Given the description of an element on the screen output the (x, y) to click on. 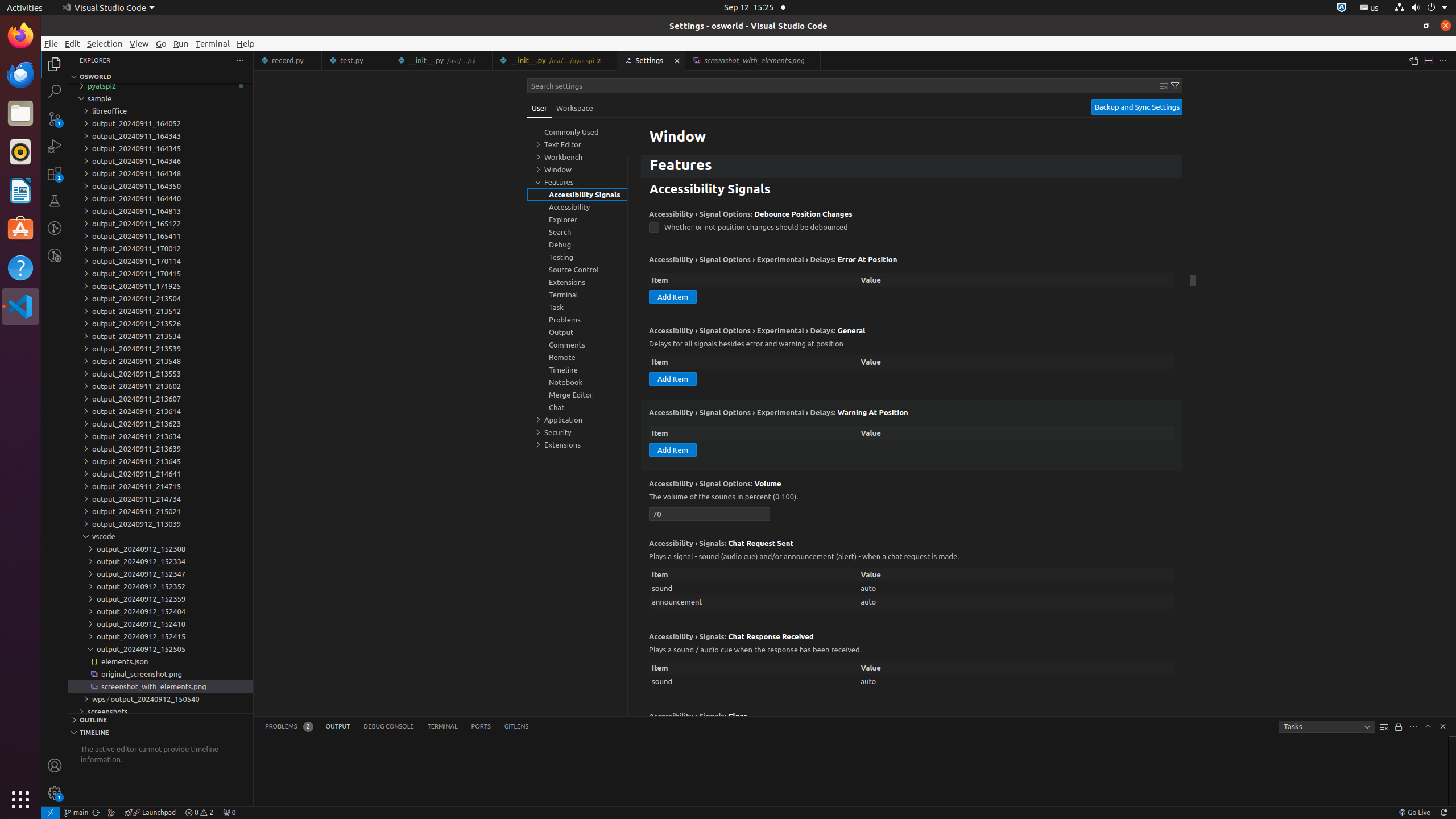
Run and Debug (Ctrl+Shift+D) Element type: page-tab (54, 145)
Accessibility, group Element type: tree-item (577, 206)
output_20240911_170012 Element type: tree-item (160, 248)
test.py Element type: page-tab (355, 60)
Comments, group Element type: tree-item (577, 344)
